Given the description of an element on the screen output the (x, y) to click on. 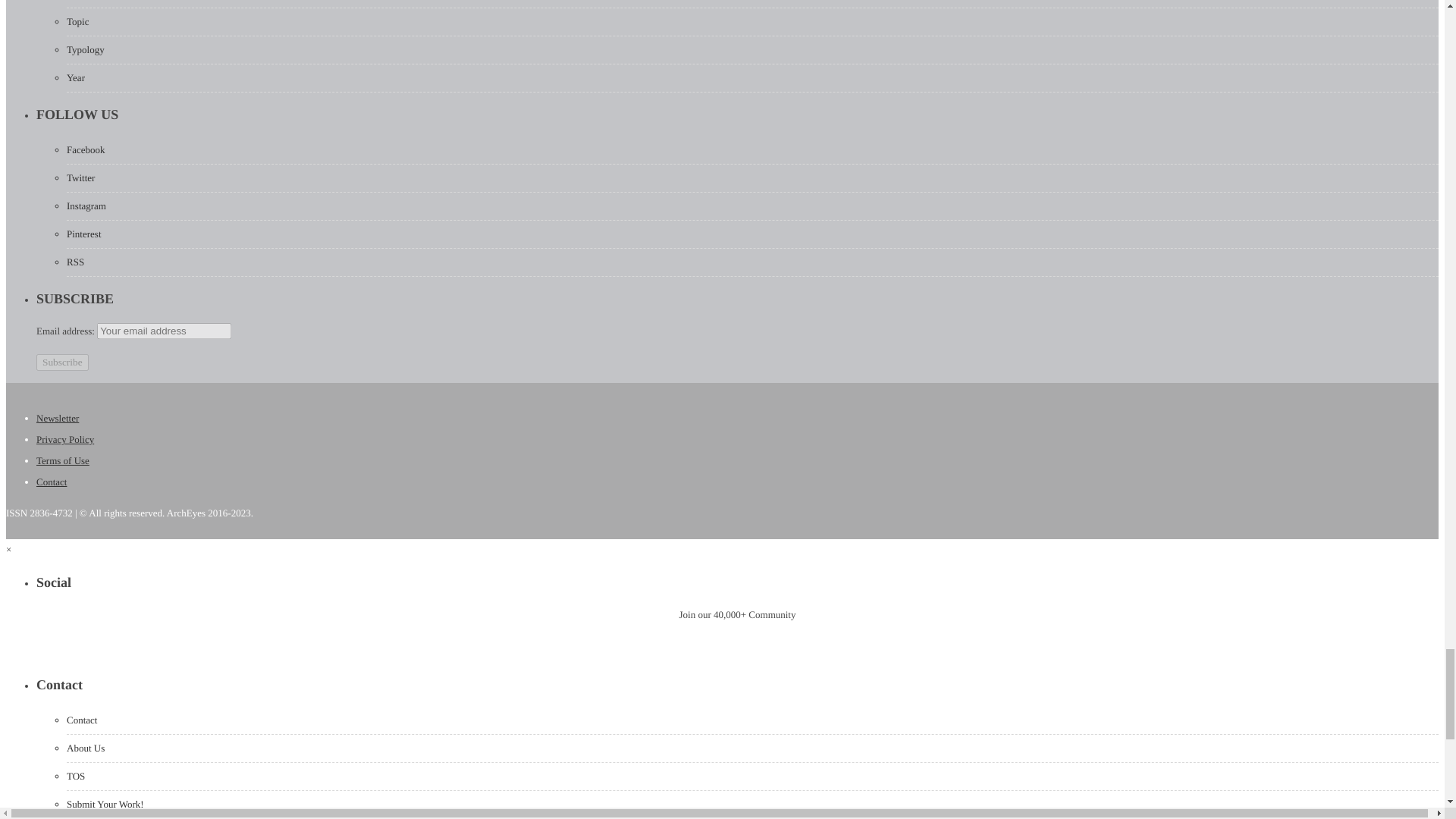
Subscribe (62, 362)
